Given the description of an element on the screen output the (x, y) to click on. 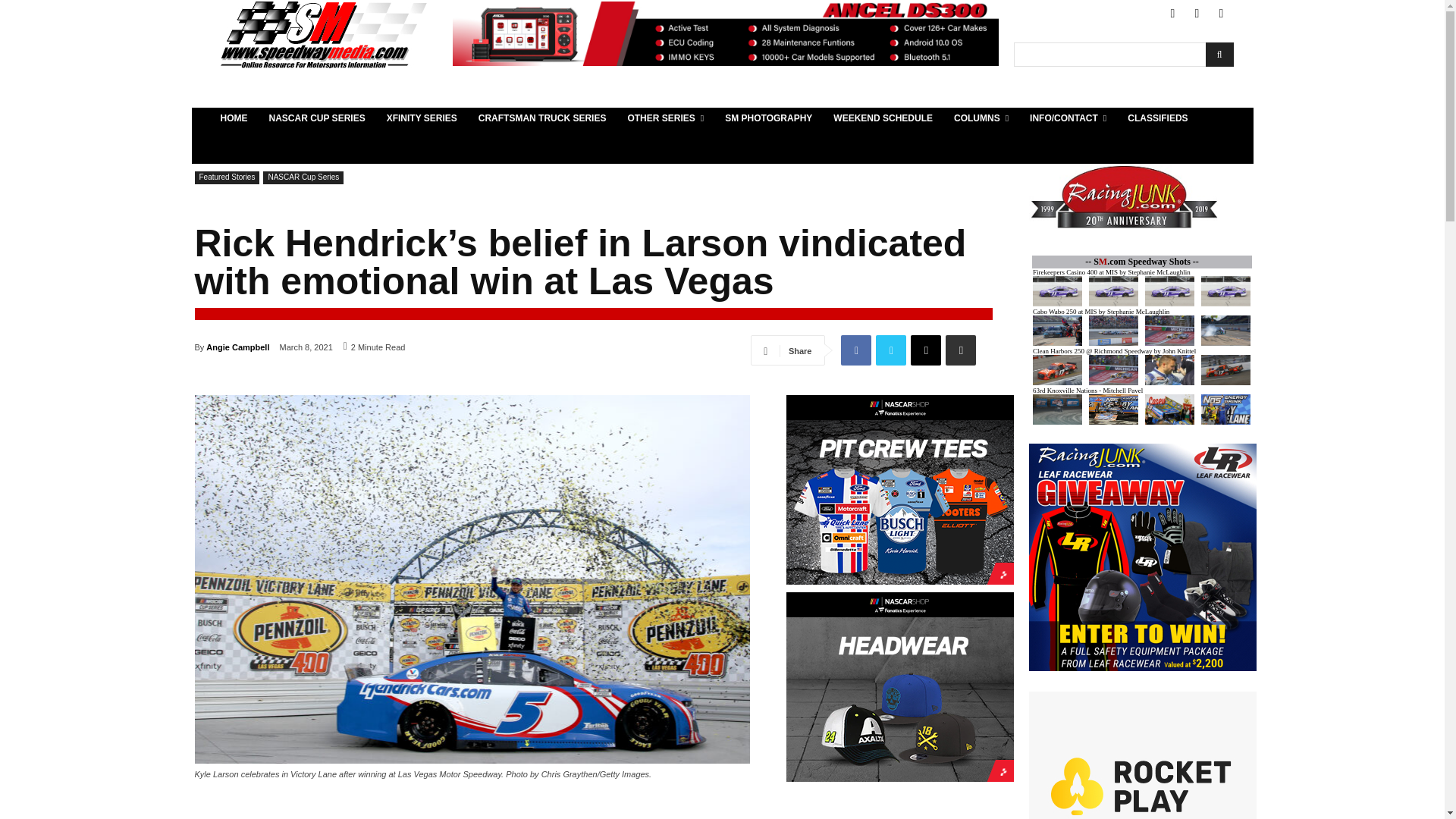
HOME (233, 117)
Twitter (1196, 13)
CRAFTSMAN TRUCK SERIES (542, 117)
NASCAR CUP SERIES (316, 117)
Facebook (1172, 13)
Print (959, 349)
XFINITY SERIES (421, 117)
Facebook (855, 349)
Twitter (890, 349)
Email (925, 349)
